Given the description of an element on the screen output the (x, y) to click on. 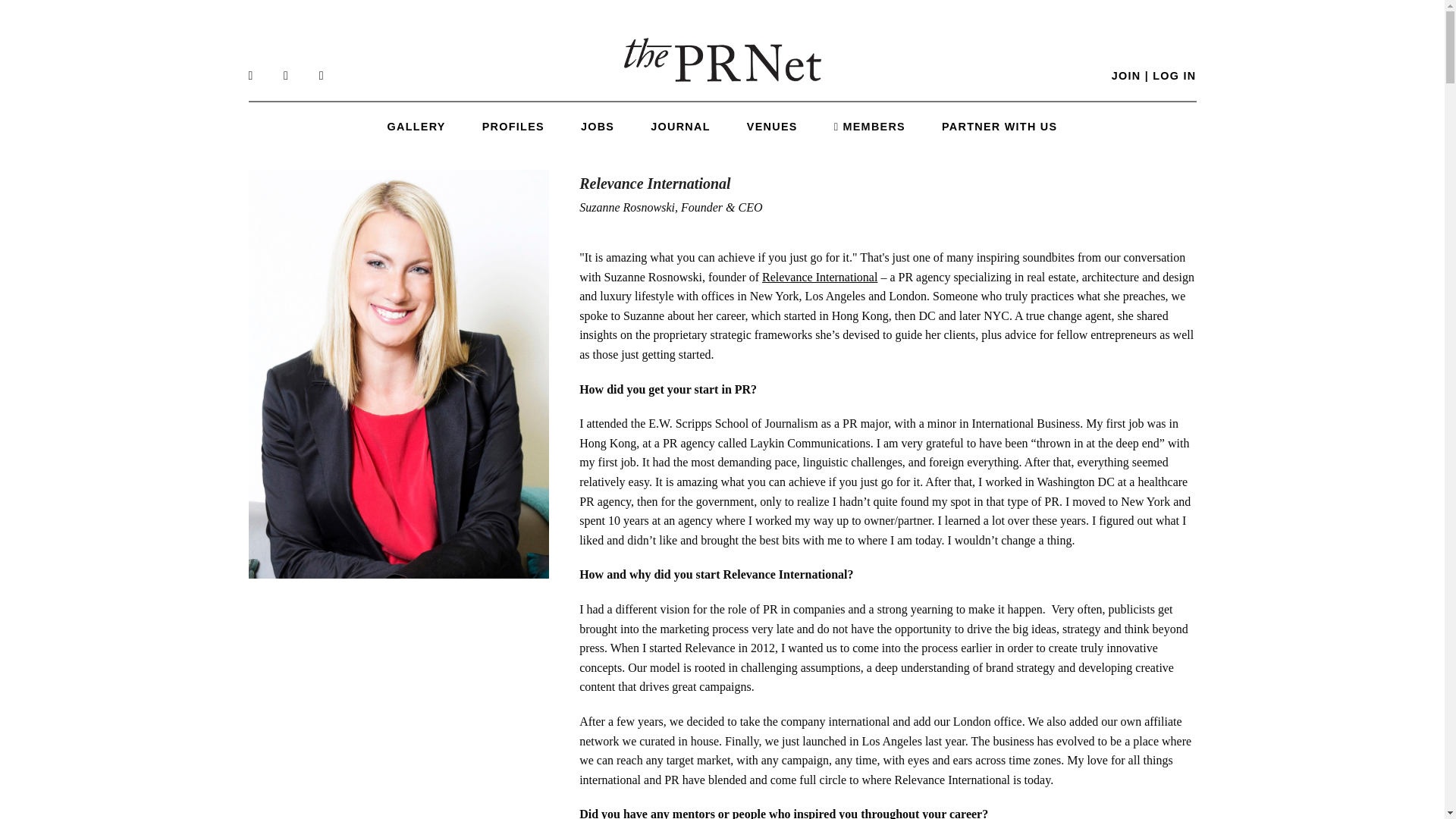
GALLERY (416, 126)
JOIN (1126, 75)
JOBS (597, 126)
LOG IN (1174, 75)
PROFILES (512, 126)
JOURNAL (680, 126)
PARTNER WITH US (999, 126)
VENUES (771, 126)
Relevance International (819, 277)
